Given the description of an element on the screen output the (x, y) to click on. 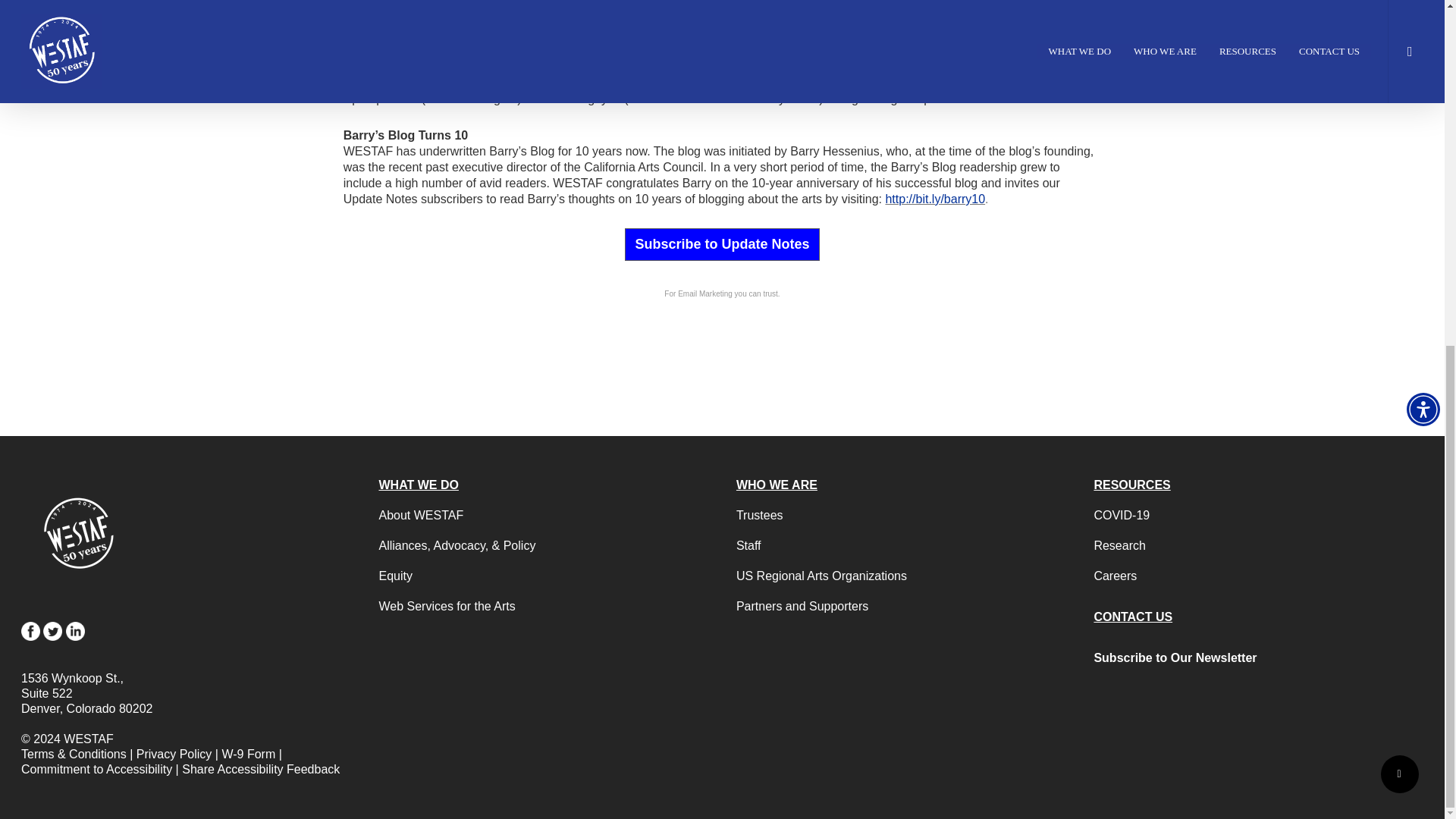
Subscribe to Update Notes (721, 244)
